Given the description of an element on the screen output the (x, y) to click on. 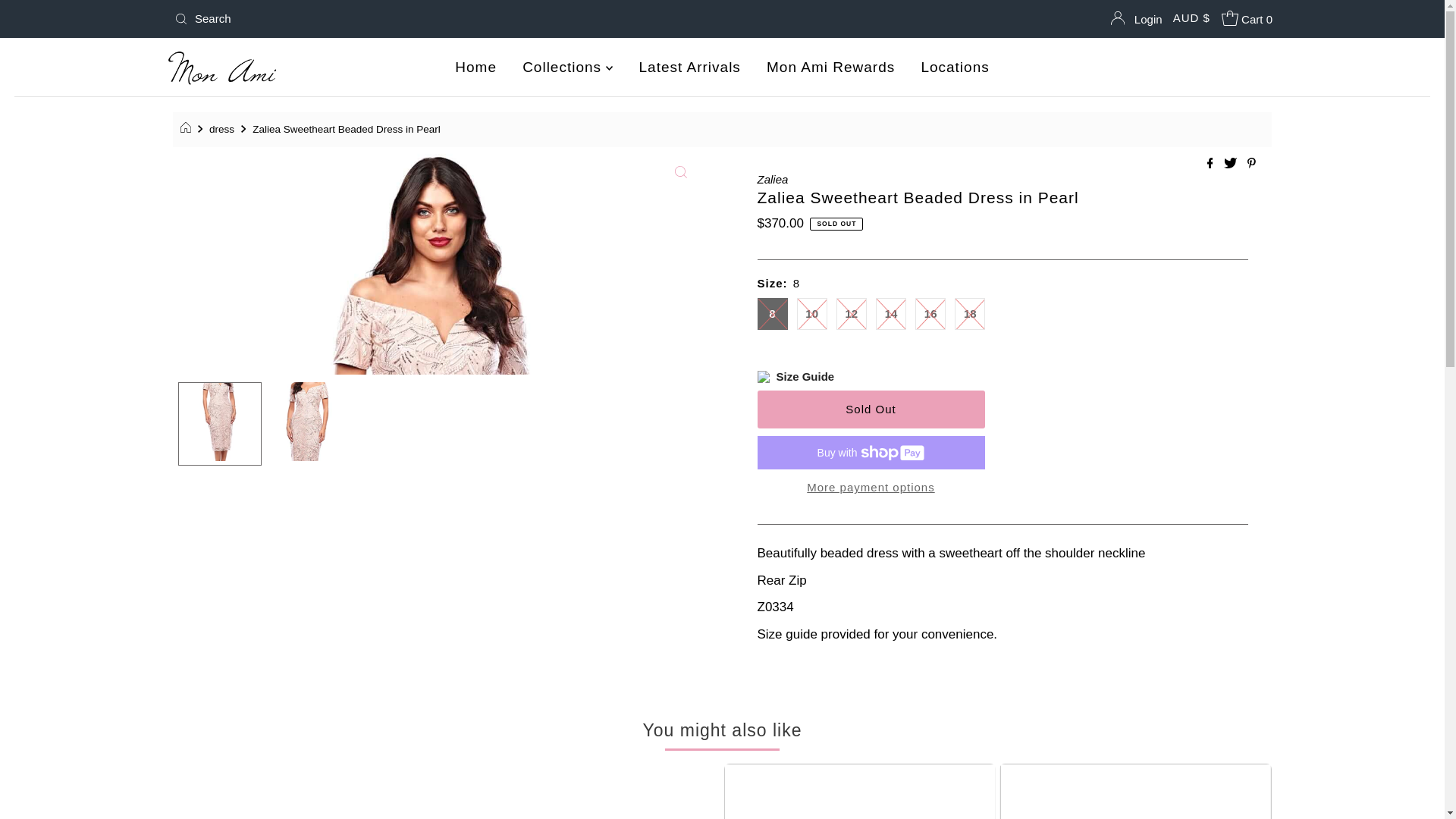
Home (476, 67)
Click to zoom (680, 171)
dress (223, 129)
Sold Out (870, 409)
Share on Twitter (1232, 164)
